Given the description of an element on the screen output the (x, y) to click on. 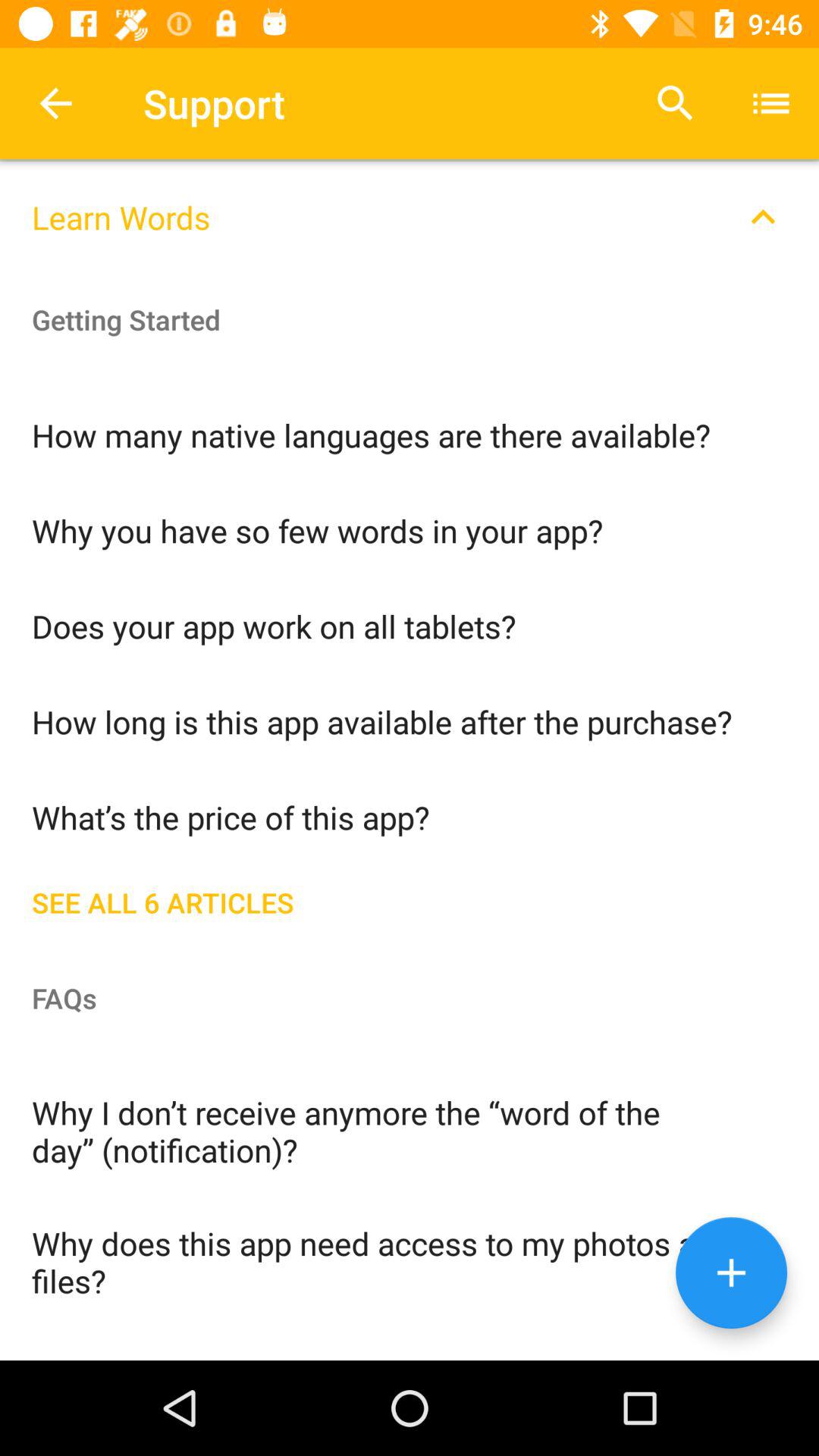
select the what s the (409, 815)
